Given the description of an element on the screen output the (x, y) to click on. 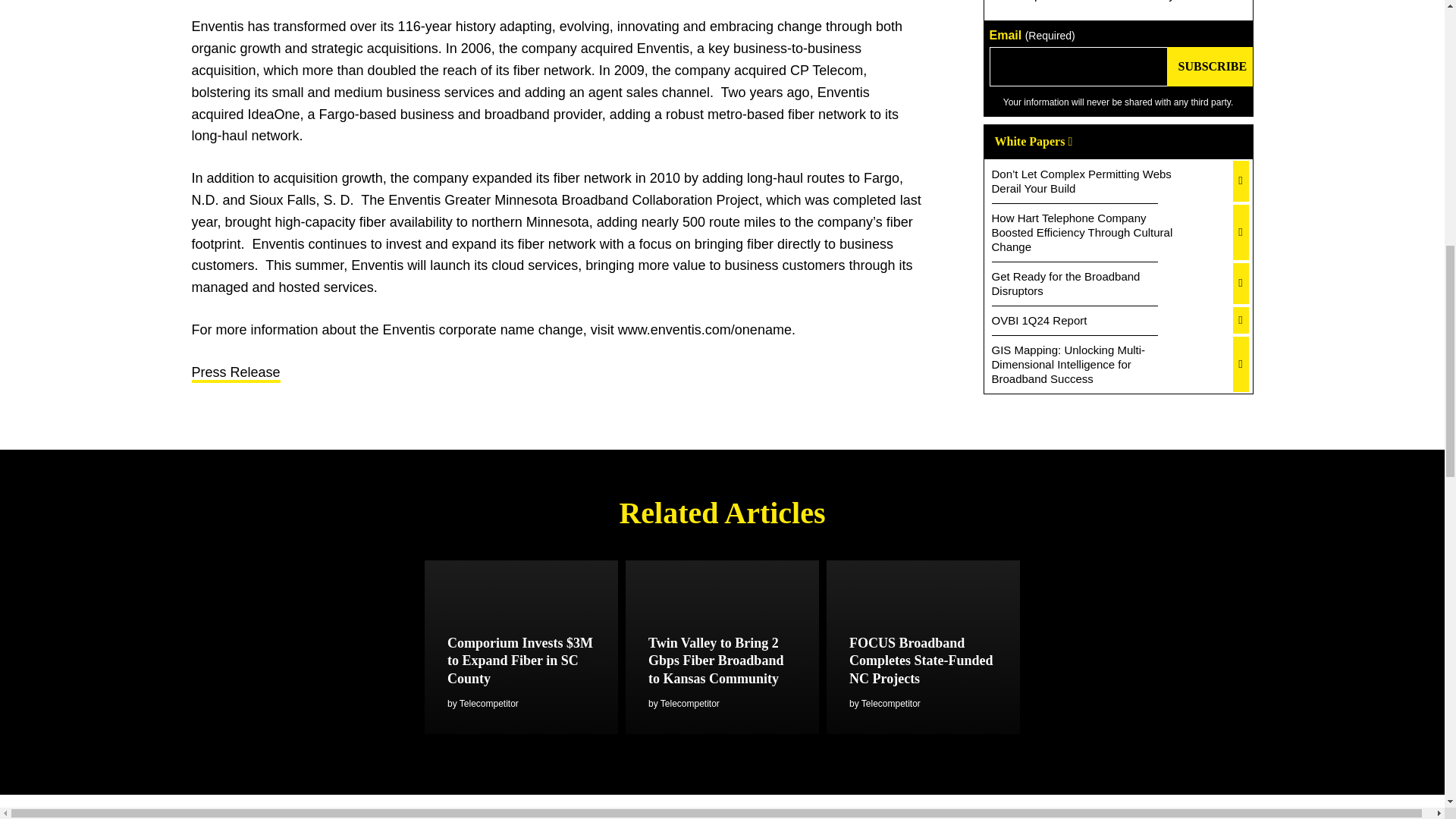
Hickory Tech Press Release (234, 373)
